Given the description of an element on the screen output the (x, y) to click on. 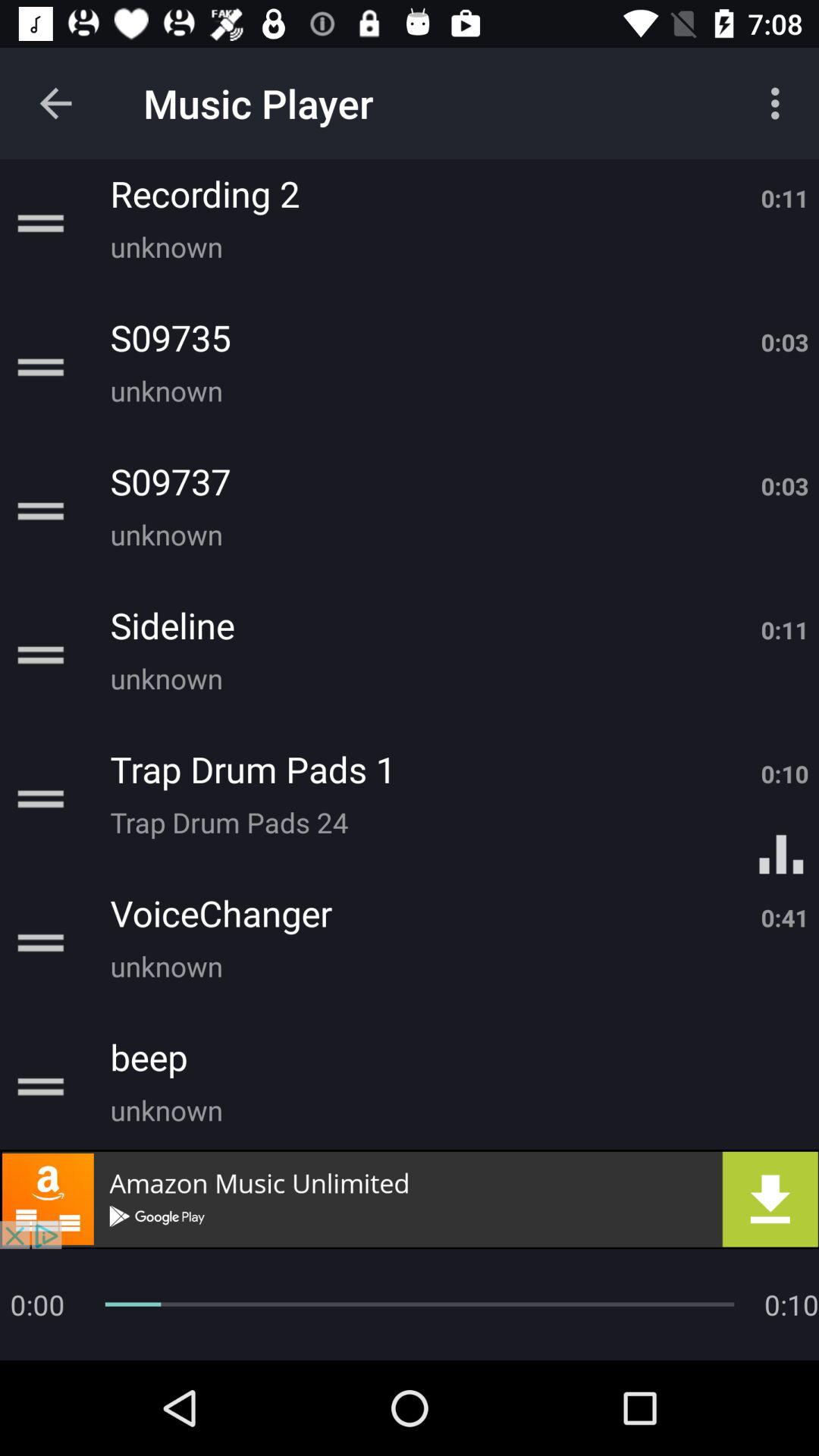
download button (409, 1198)
